Given the description of an element on the screen output the (x, y) to click on. 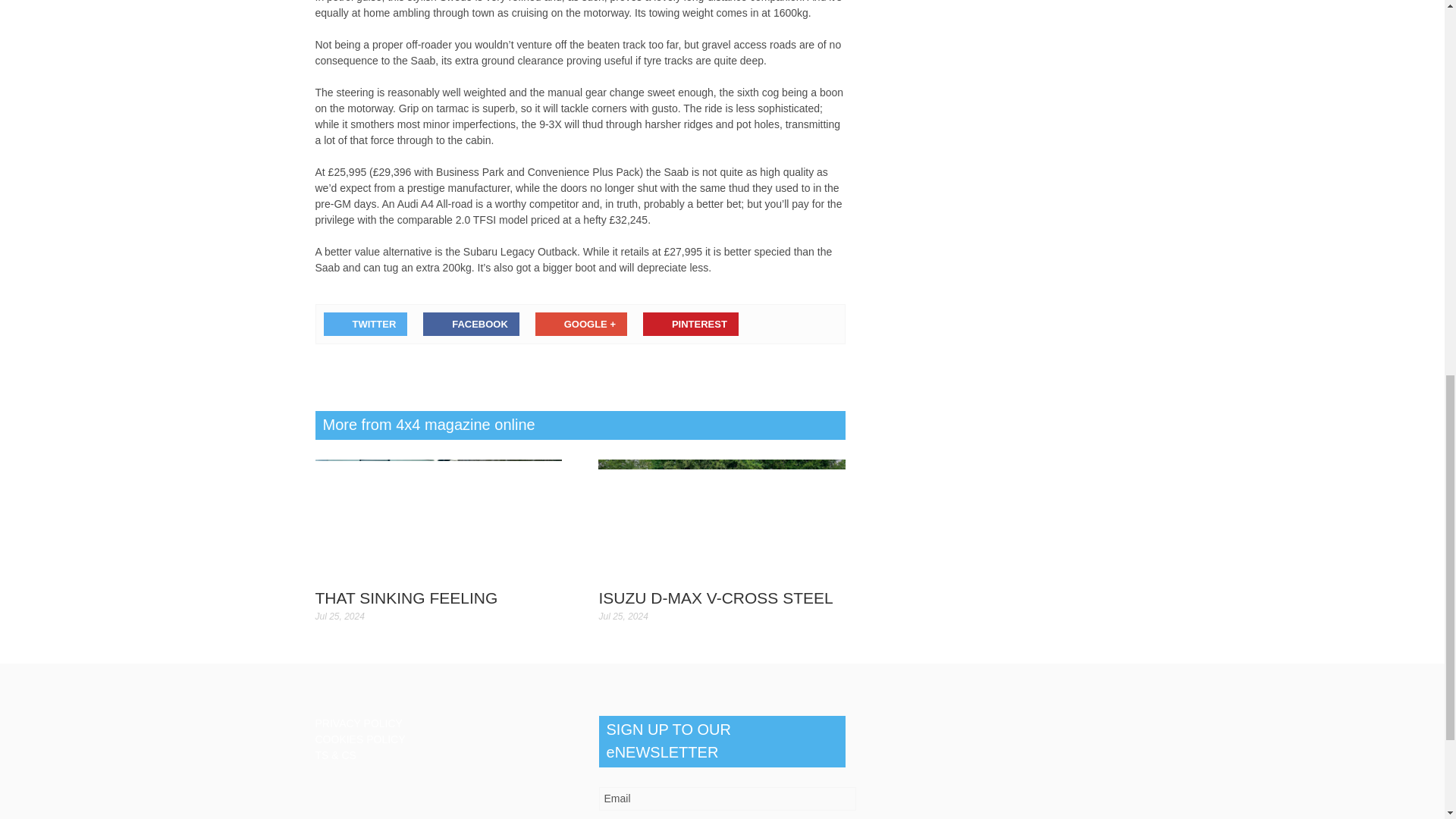
Email (727, 798)
THAT SINKING FEELING (438, 519)
THAT SINKING FEELING (406, 597)
THAT SINKING FEELING (438, 518)
ISUZU D-MAX V-CROSS STEEL (715, 597)
TWITTER (365, 323)
PINTEREST (690, 323)
THAT SINKING FEELING (406, 597)
FACEBOOK (471, 323)
ISUZU D-MAX V-CROSS STEEL (721, 518)
